Given the description of an element on the screen output the (x, y) to click on. 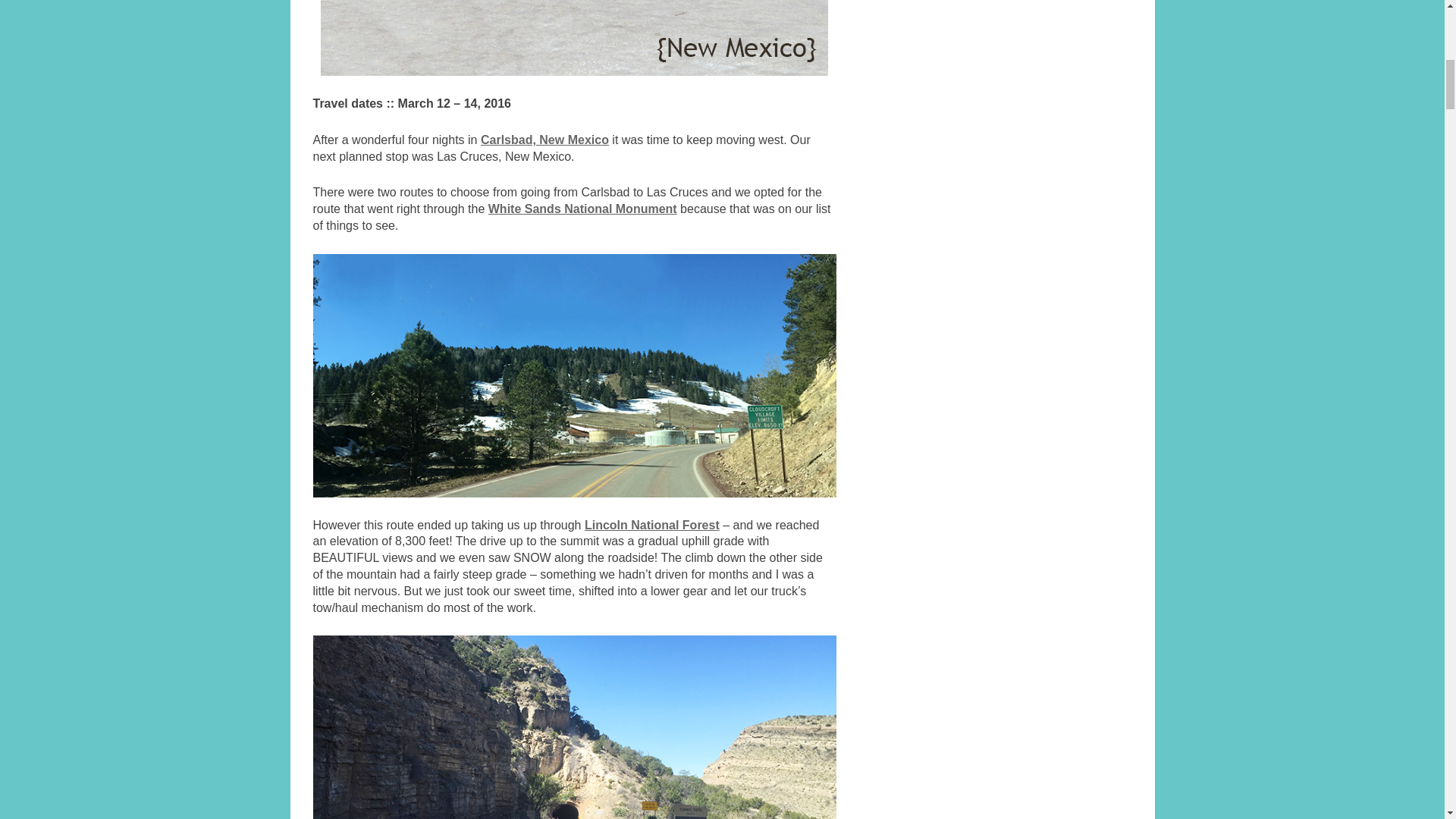
Carlsbad, New Mexico (544, 139)
Lincoln National Forest (652, 524)
White Sands National Monument (582, 208)
